Given the description of an element on the screen output the (x, y) to click on. 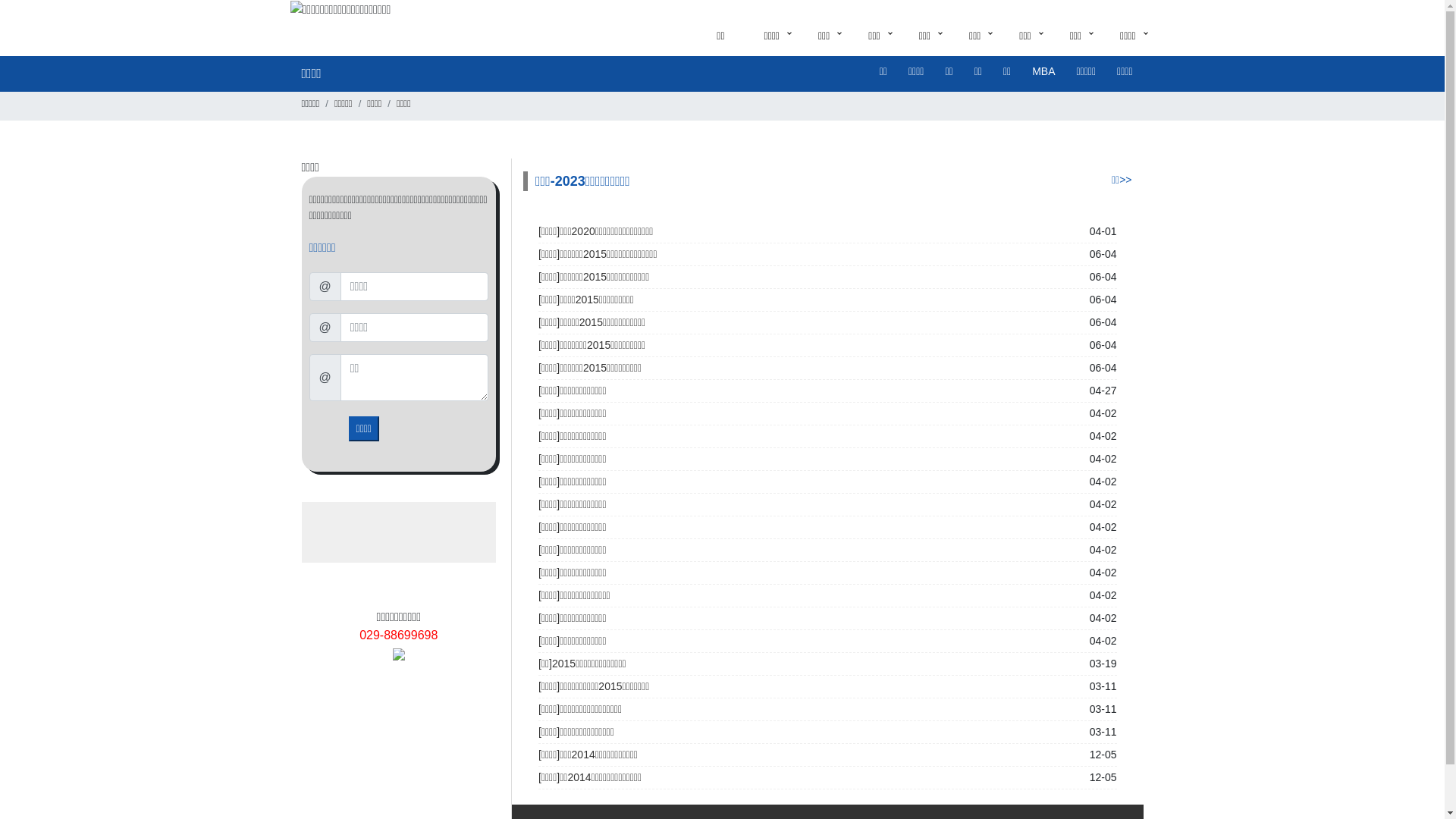
MBA Element type: text (1043, 71)
